Given the description of an element on the screen output the (x, y) to click on. 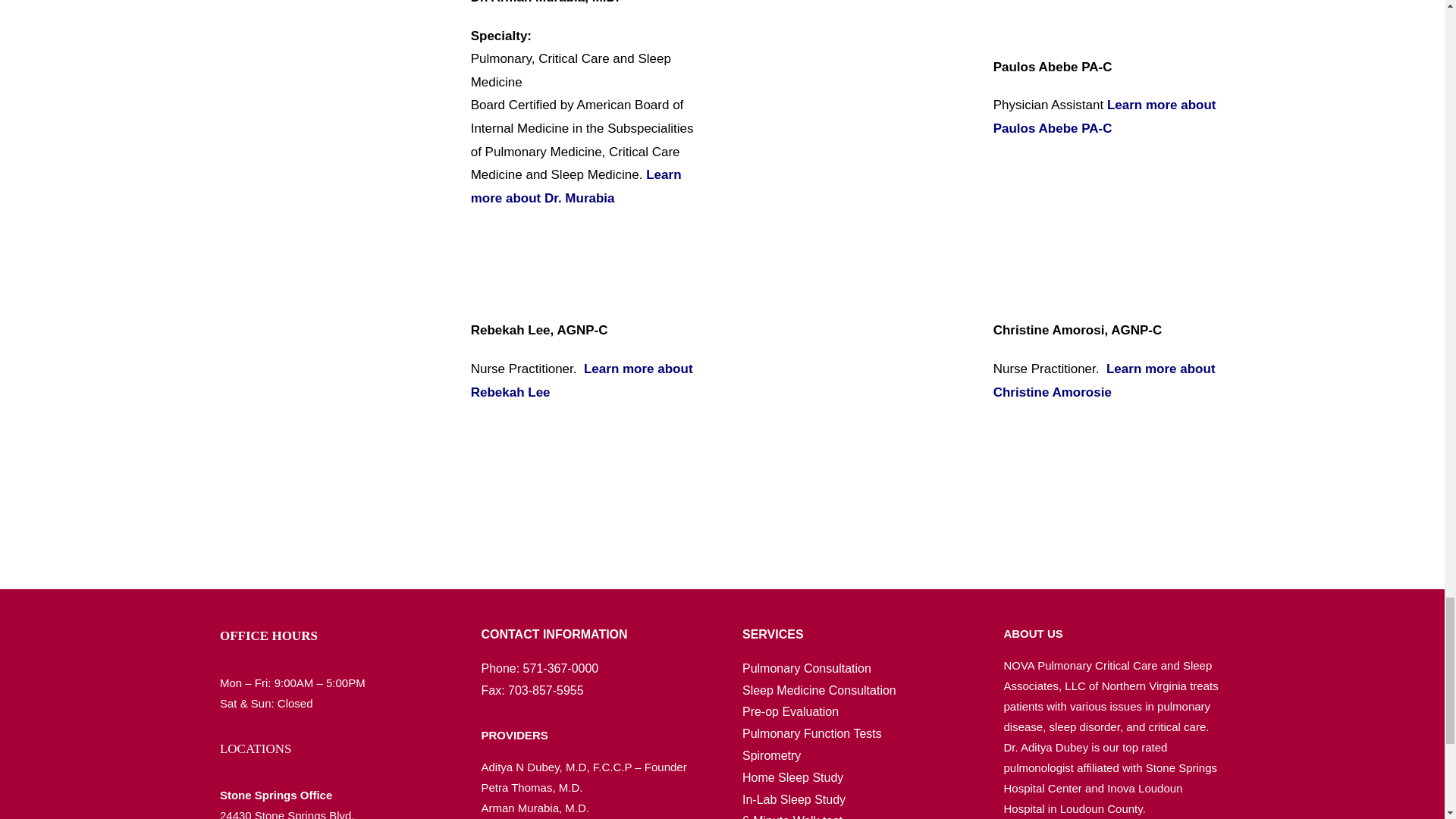
Paulos Abebe PA-C (855, 110)
Dr. Arman Murabia (332, 110)
Rebekah B. Lee, AGNP-C (332, 369)
Spirometry (771, 755)
Christine Amorosi (855, 369)
In-Lab Sleep Study (793, 799)
